Given the description of an element on the screen output the (x, y) to click on. 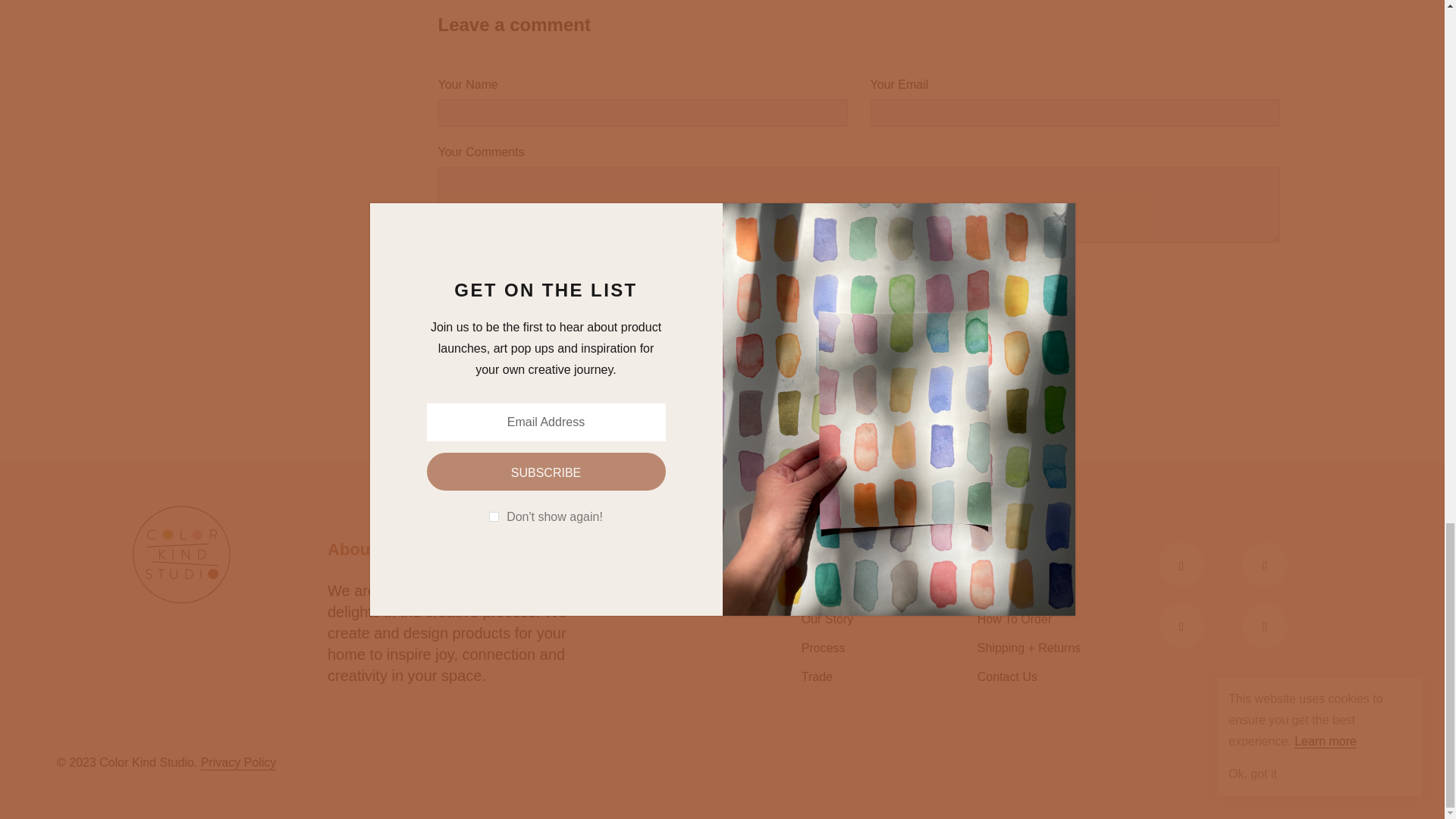
Post comment (525, 325)
Process (823, 647)
Contact Us (1006, 676)
Homepage (579, 439)
Trade (817, 676)
Privacy Policy (238, 762)
Our Story (827, 618)
FAQ'S (993, 590)
How To Order (1013, 618)
Post comment (525, 325)
